Given the description of an element on the screen output the (x, y) to click on. 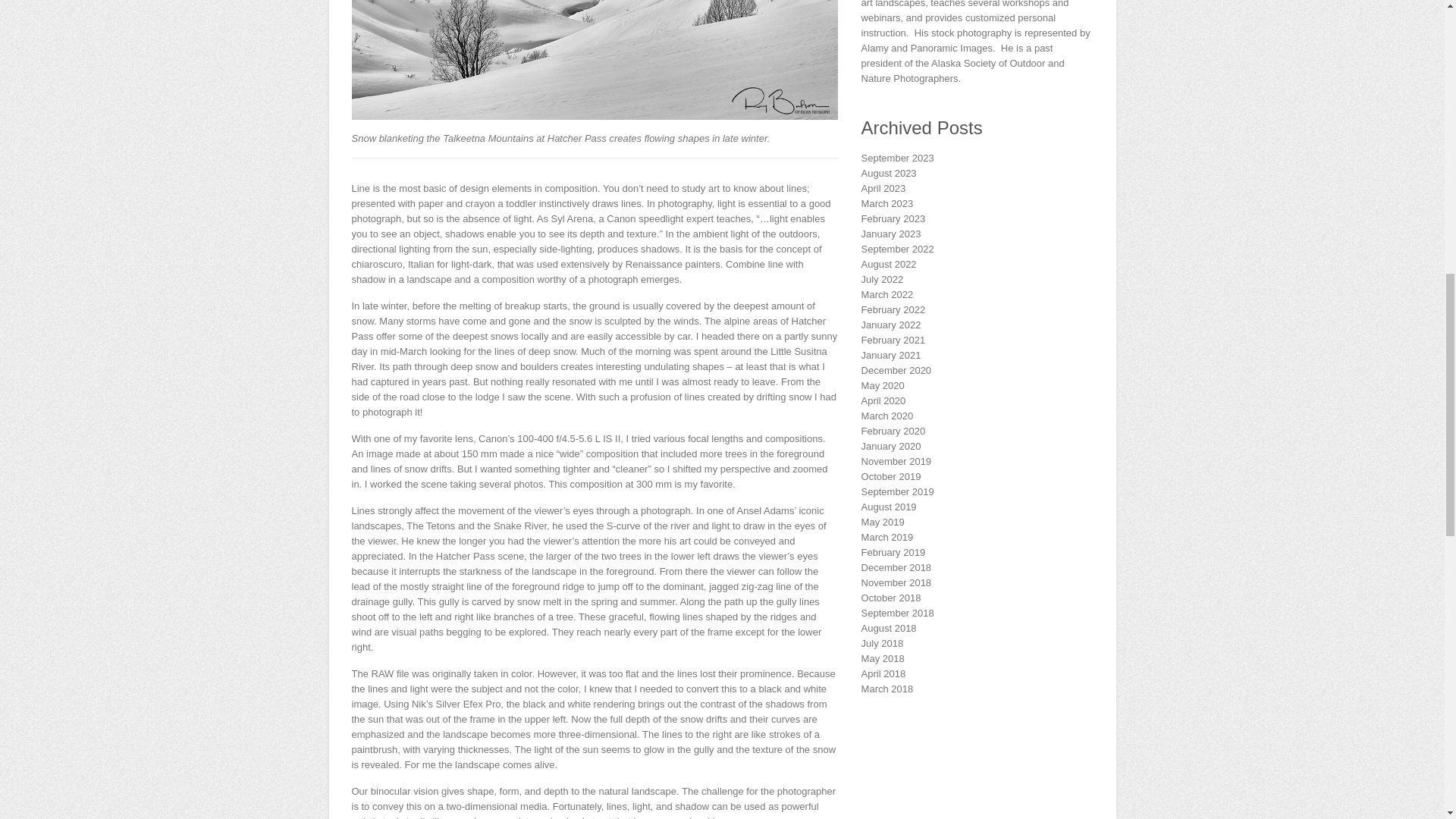
August 2023 (889, 173)
September 2023 (897, 157)
September 2022 (897, 248)
March 2023 (887, 203)
January 2023 (891, 233)
February 2023 (893, 218)
July 2022 (882, 279)
April 2023 (883, 188)
August 2022 (889, 264)
